Given the description of an element on the screen output the (x, y) to click on. 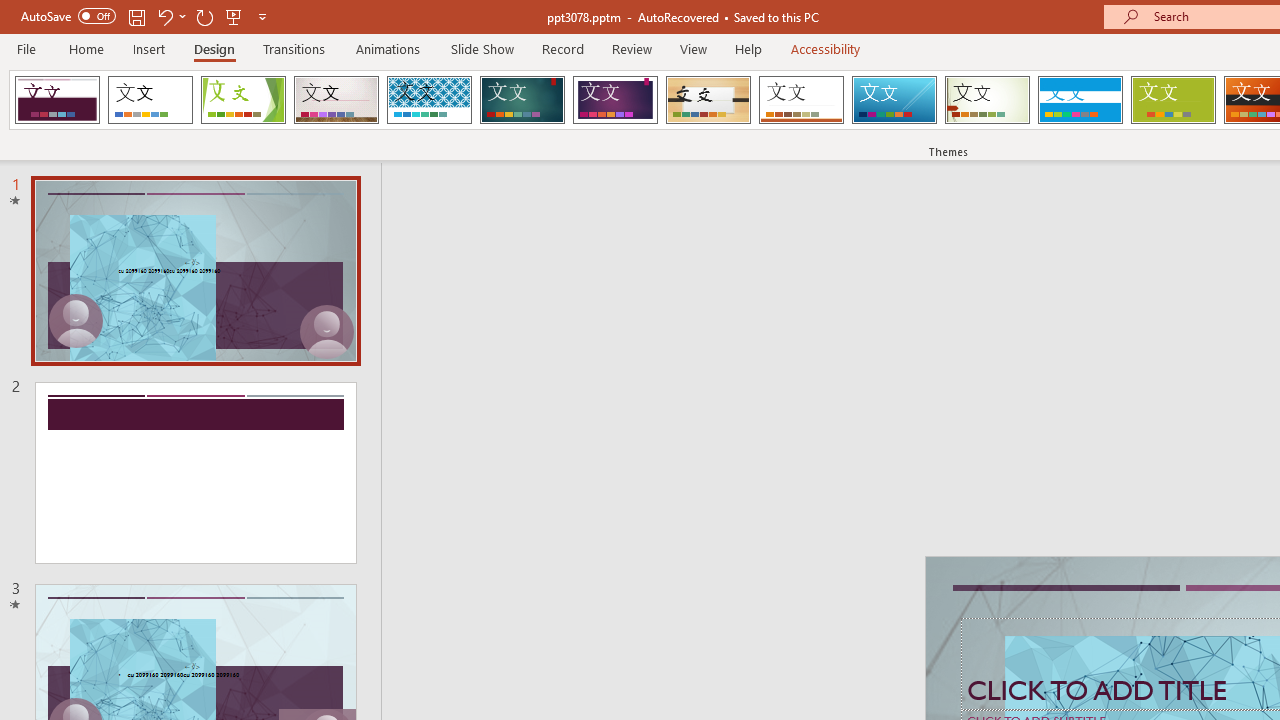
Facet (243, 100)
Office Theme (150, 100)
Berlin (57, 100)
